Given the description of an element on the screen output the (x, y) to click on. 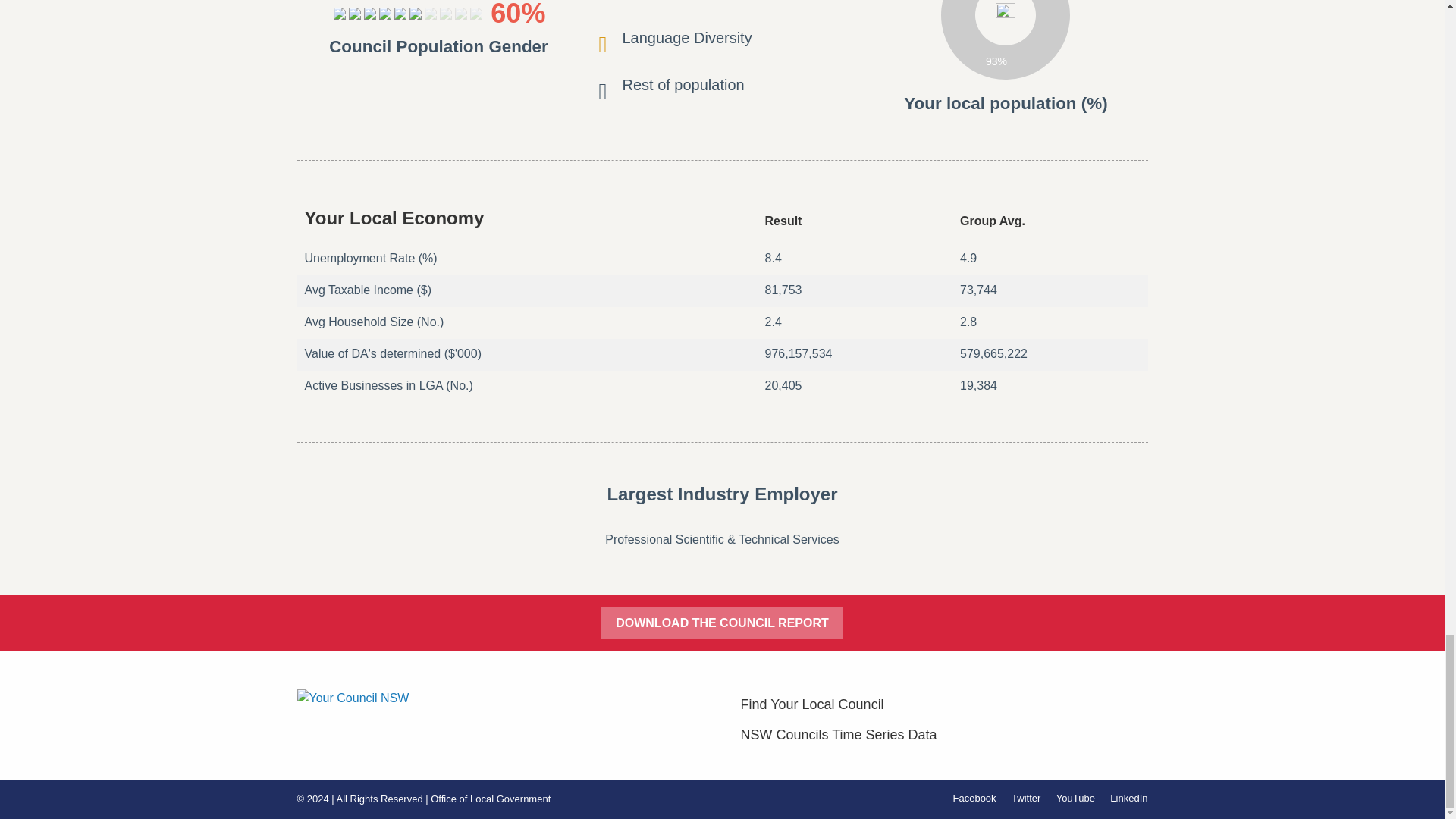
Find Your Local Council (943, 704)
Twitter (1026, 798)
Facebook (973, 798)
NSW Councils Time Series Data (943, 734)
DOWNLOAD THE COUNCIL REPORT (722, 623)
